Given the description of an element on the screen output the (x, y) to click on. 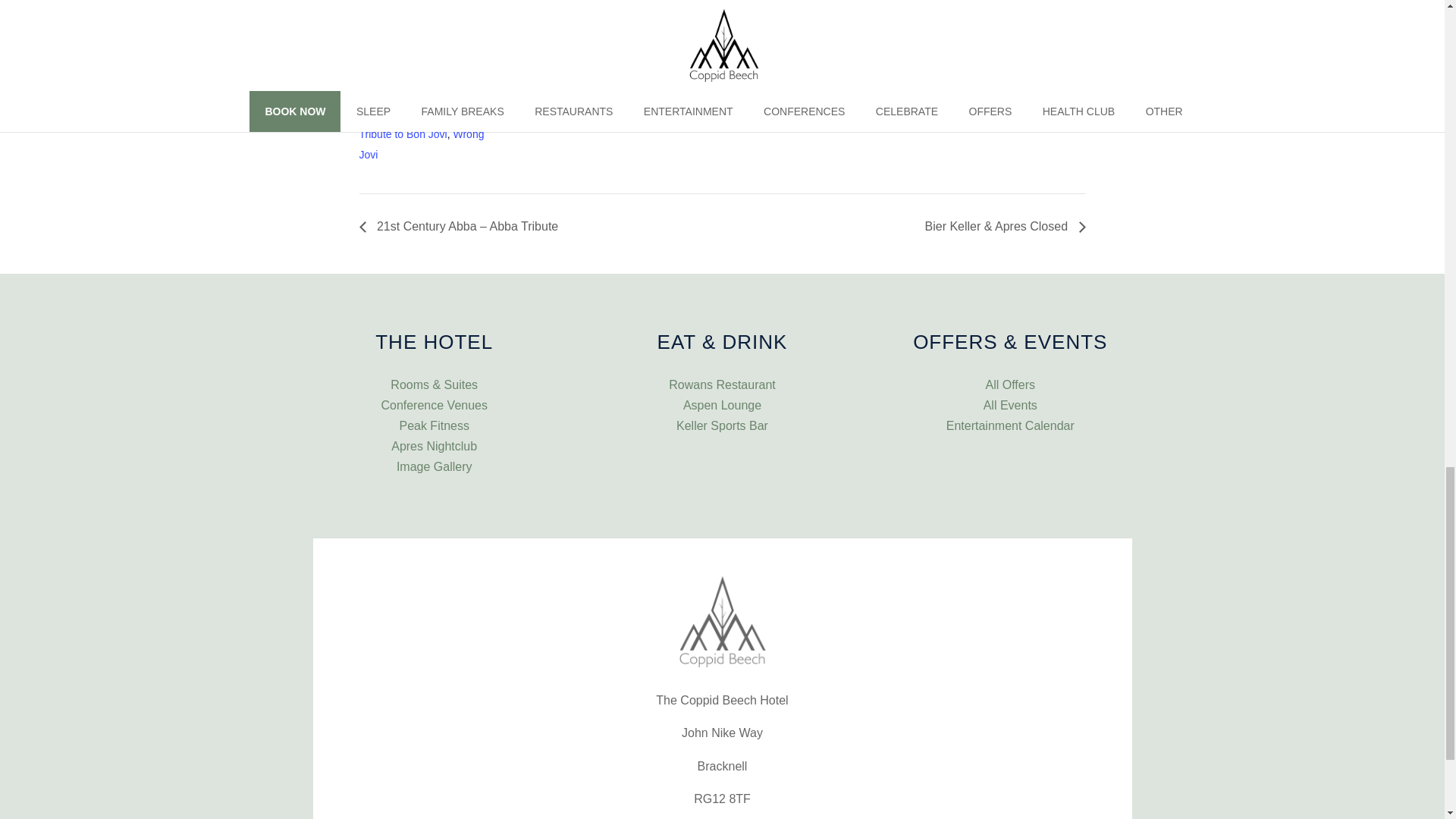
cbh-logo (722, 621)
